Given the description of an element on the screen output the (x, y) to click on. 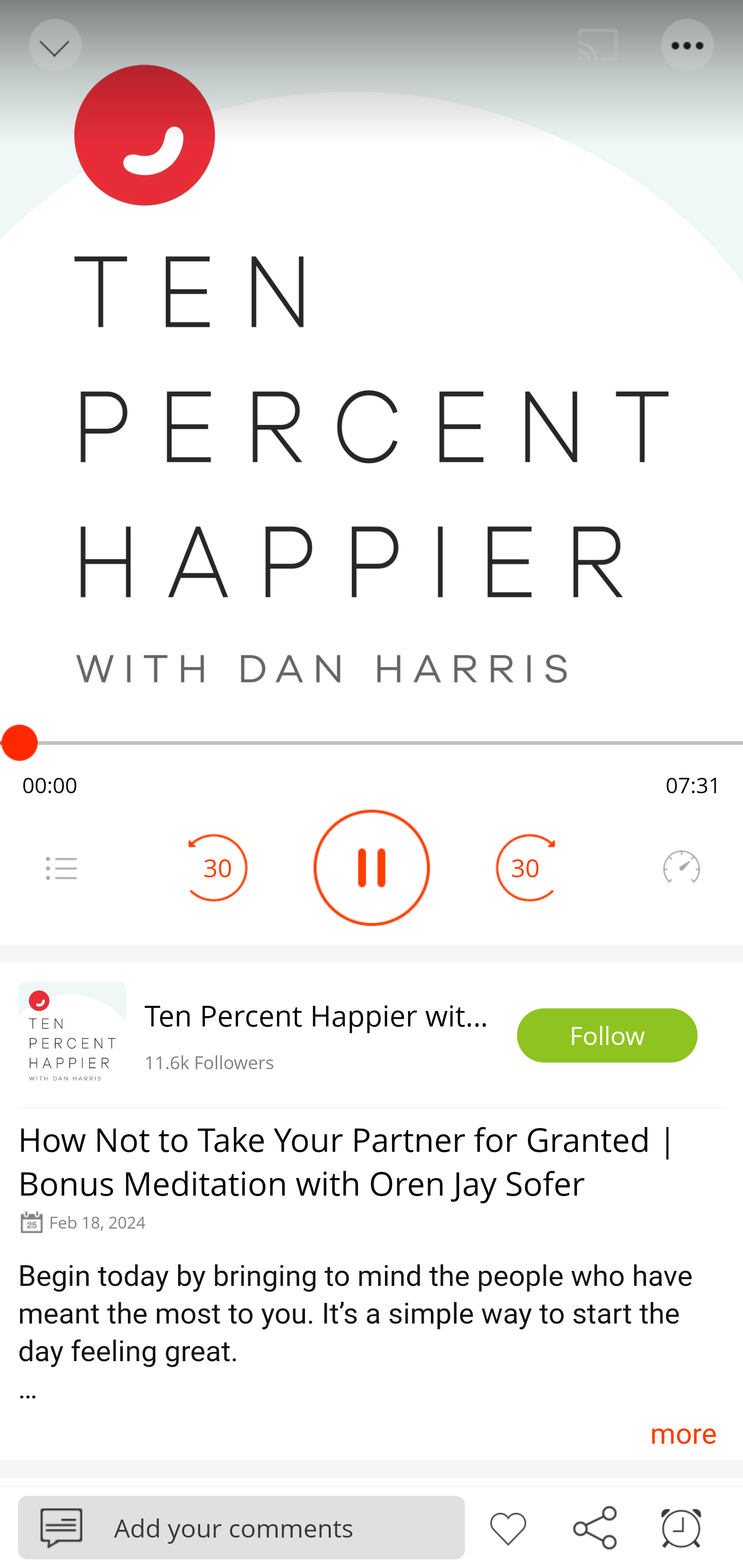
Back (53, 45)
Cast. Disconnected (597, 45)
Menu (688, 45)
Play (371, 867)
30 Seek Backward (217, 867)
30 Seek Forward (525, 867)
Menu (60, 867)
Speedometer (681, 867)
Follow (607, 1035)
more (682, 1432)
Like (508, 1526)
Share (594, 1526)
Sleep timer (681, 1526)
Podbean Add your comments (241, 1526)
